Given the description of an element on the screen output the (x, y) to click on. 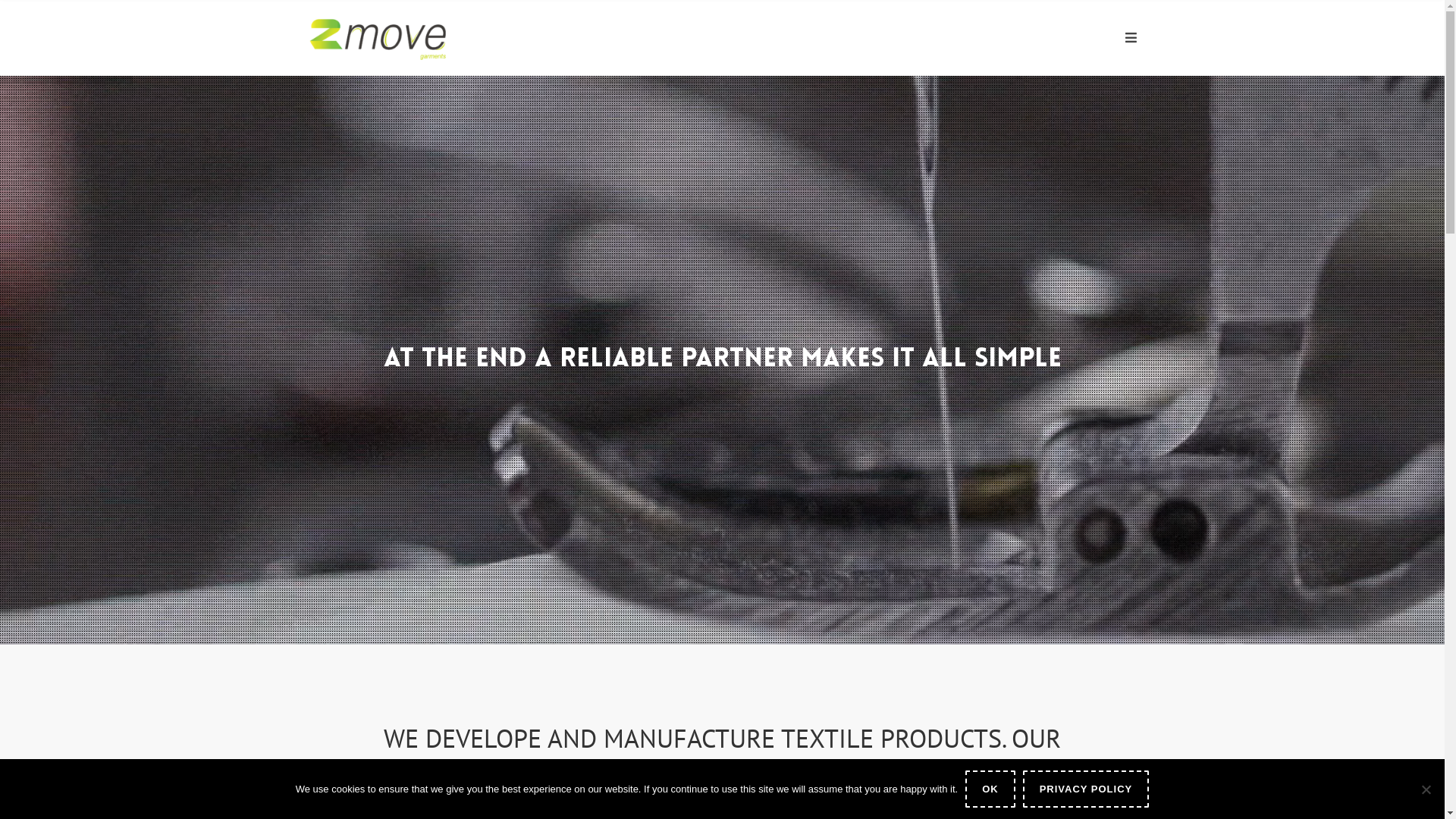
OK Element type: text (990, 788)
2Move Garments Element type: hover (378, 37)
PRIVACY POLICY Element type: text (1085, 788)
No Element type: hover (1425, 788)
